Given the description of an element on the screen output the (x, y) to click on. 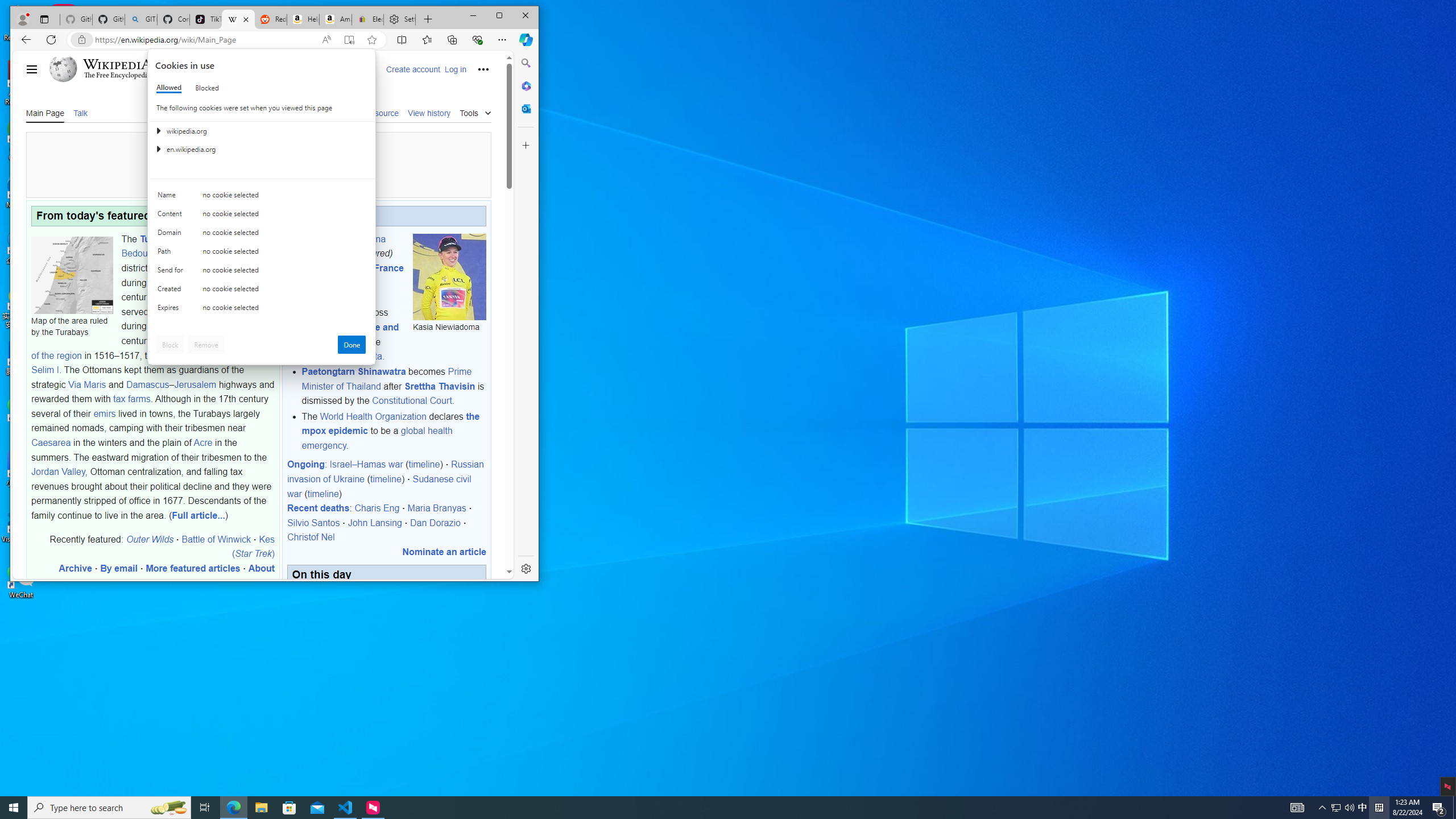
Action Center, 2 new notifications (1439, 807)
Tray Input Indicator - Chinese (Simplified, China) (1378, 807)
Notification Chevron (1322, 807)
File Explorer (261, 807)
Class: c0153 c0157 c0154 (261, 197)
